Given the description of an element on the screen output the (x, y) to click on. 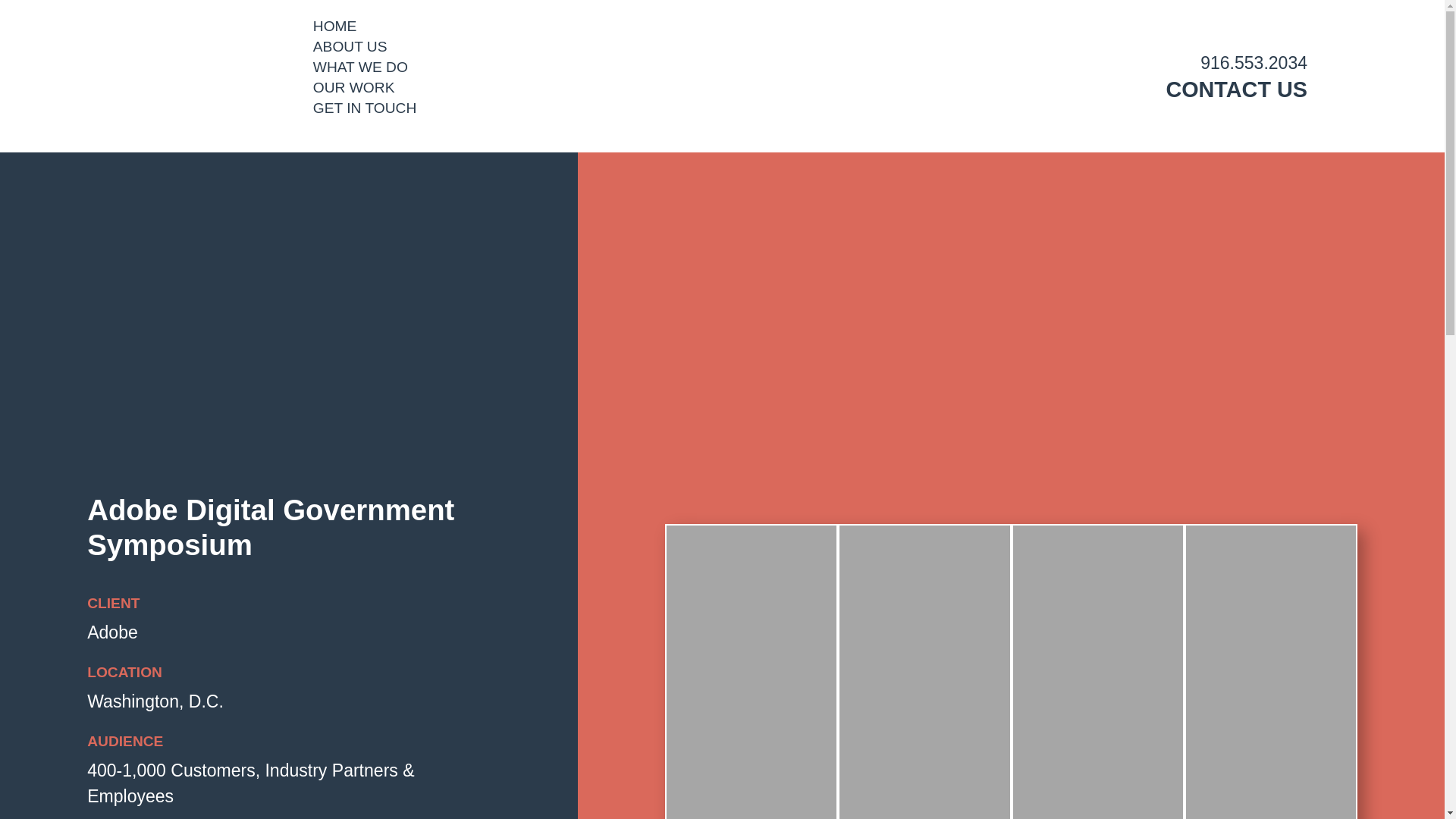
GET IN TOUCH (364, 107)
OUR WORK (353, 87)
ABOUT US (350, 46)
WHAT WE DO (360, 66)
CONTACT US (1236, 89)
HOME (334, 26)
916.553.2034 (1253, 62)
